Given the description of an element on the screen output the (x, y) to click on. 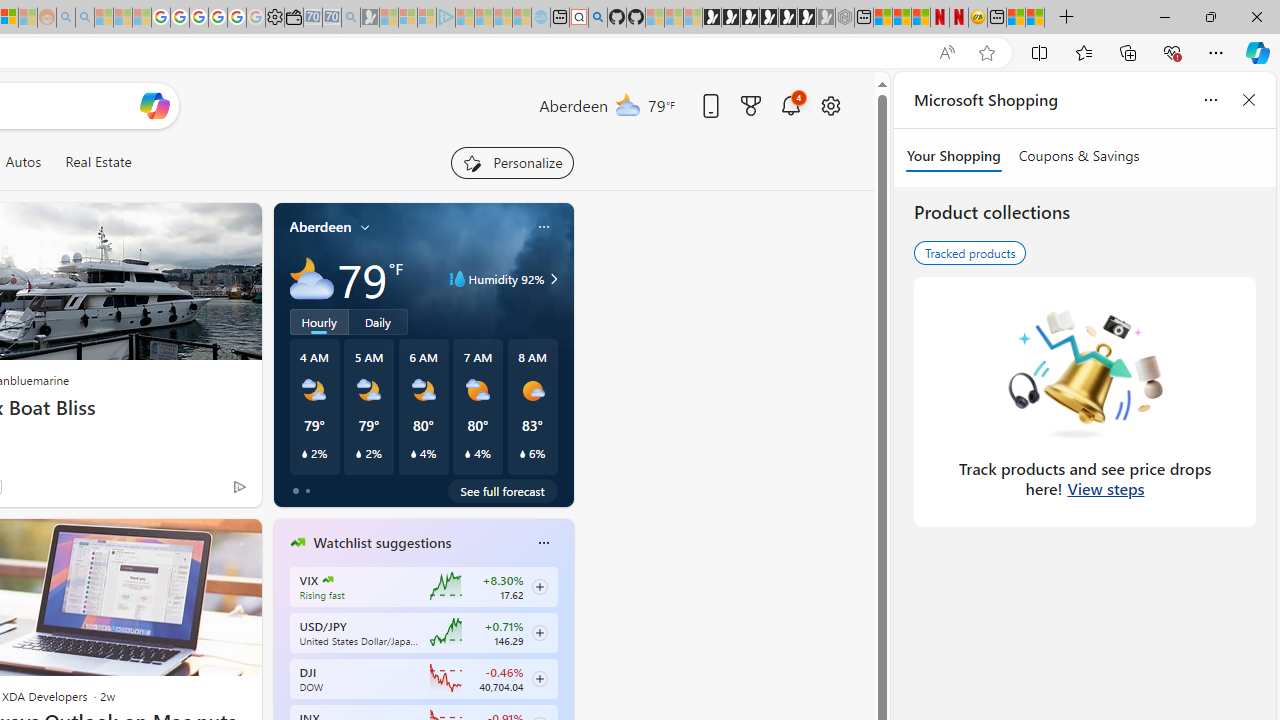
Humidity 92% (551, 278)
Class: weather-arrow-glyph (554, 278)
Real Estate (98, 161)
Microsoft Start Gaming - Sleeping (369, 17)
next (563, 670)
Class: weather-current-precipitation-glyph (522, 453)
More options (543, 543)
